Given the description of an element on the screen output the (x, y) to click on. 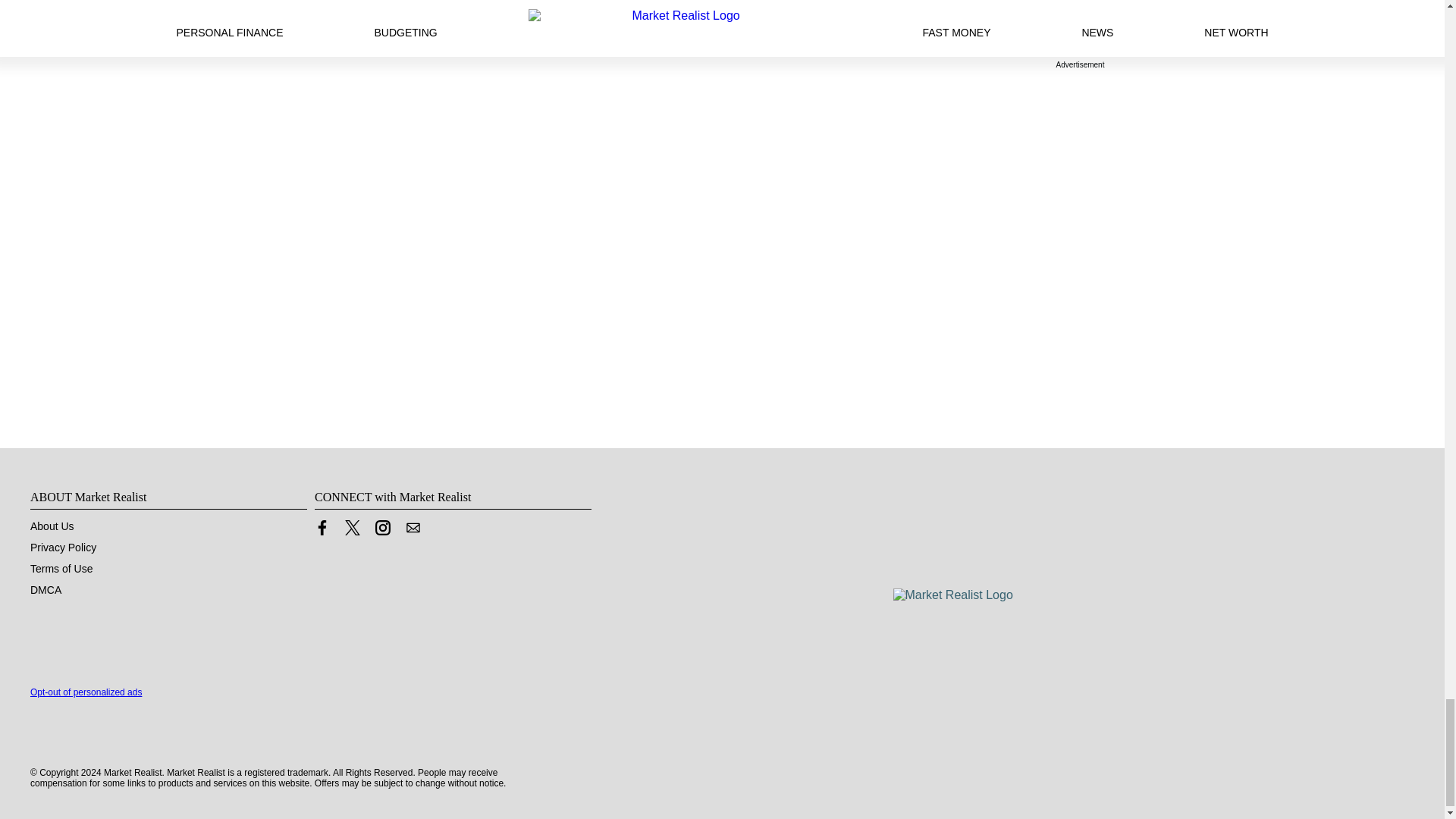
Contact us by Email (413, 531)
Link to Instagram (382, 527)
Opt-out of personalized ads (85, 692)
Link to Instagram (382, 531)
Terms of Use (61, 568)
About Us (52, 526)
Privacy Policy (63, 547)
Link to X (352, 527)
Link to Facebook (322, 527)
Terms of Use (61, 568)
DMCA (45, 589)
Link to X (352, 531)
DMCA (45, 589)
Privacy Policy (63, 547)
Contact us by Email (413, 527)
